Given the description of an element on the screen output the (x, y) to click on. 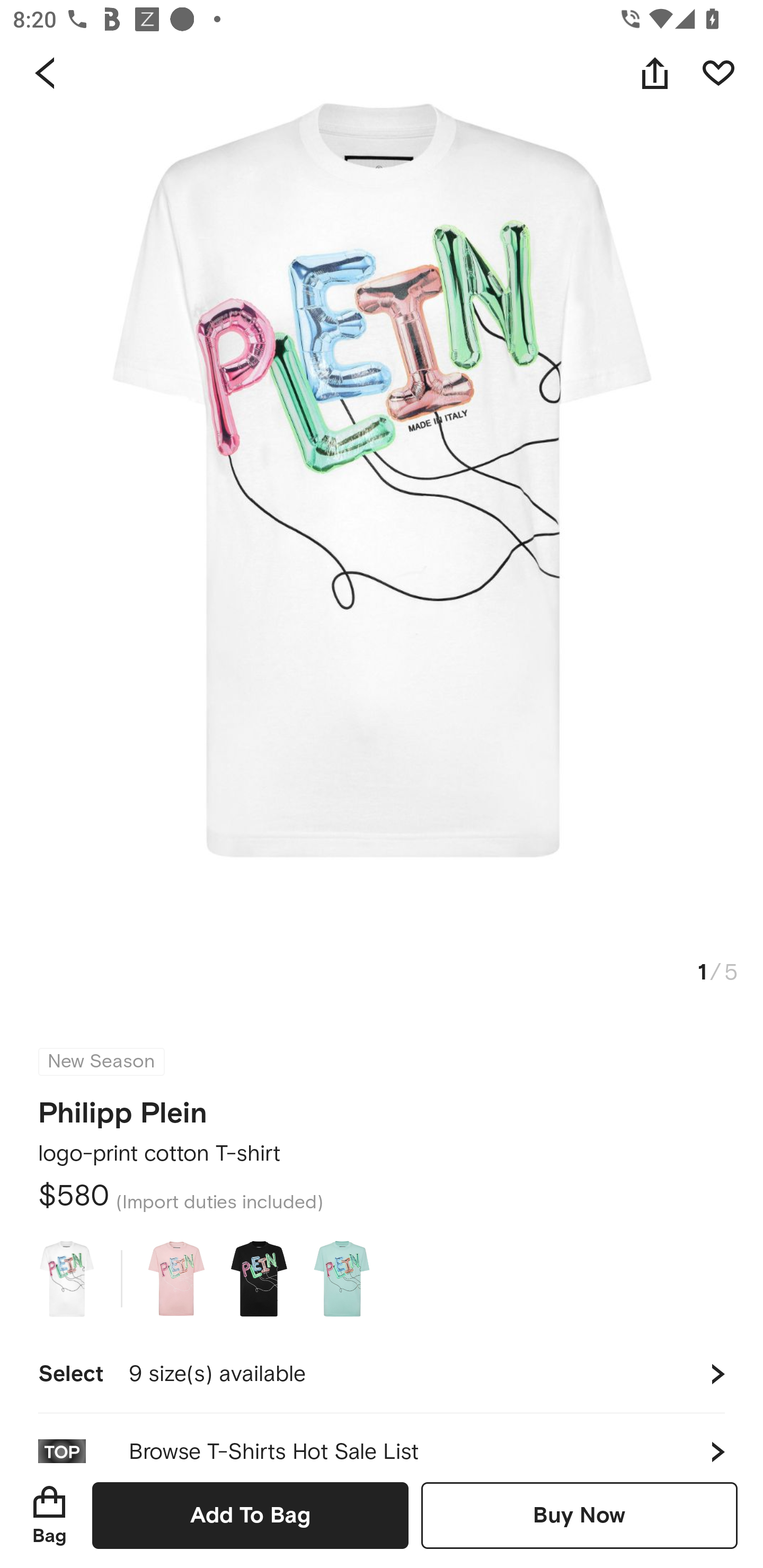
Philipp Plein (122, 1107)
Select 9 size(s) available (381, 1373)
Browse T-Shirts Hot Sale List (381, 1438)
Bag (49, 1515)
Add To Bag (250, 1515)
Buy Now (579, 1515)
